Given the description of an element on the screen output the (x, y) to click on. 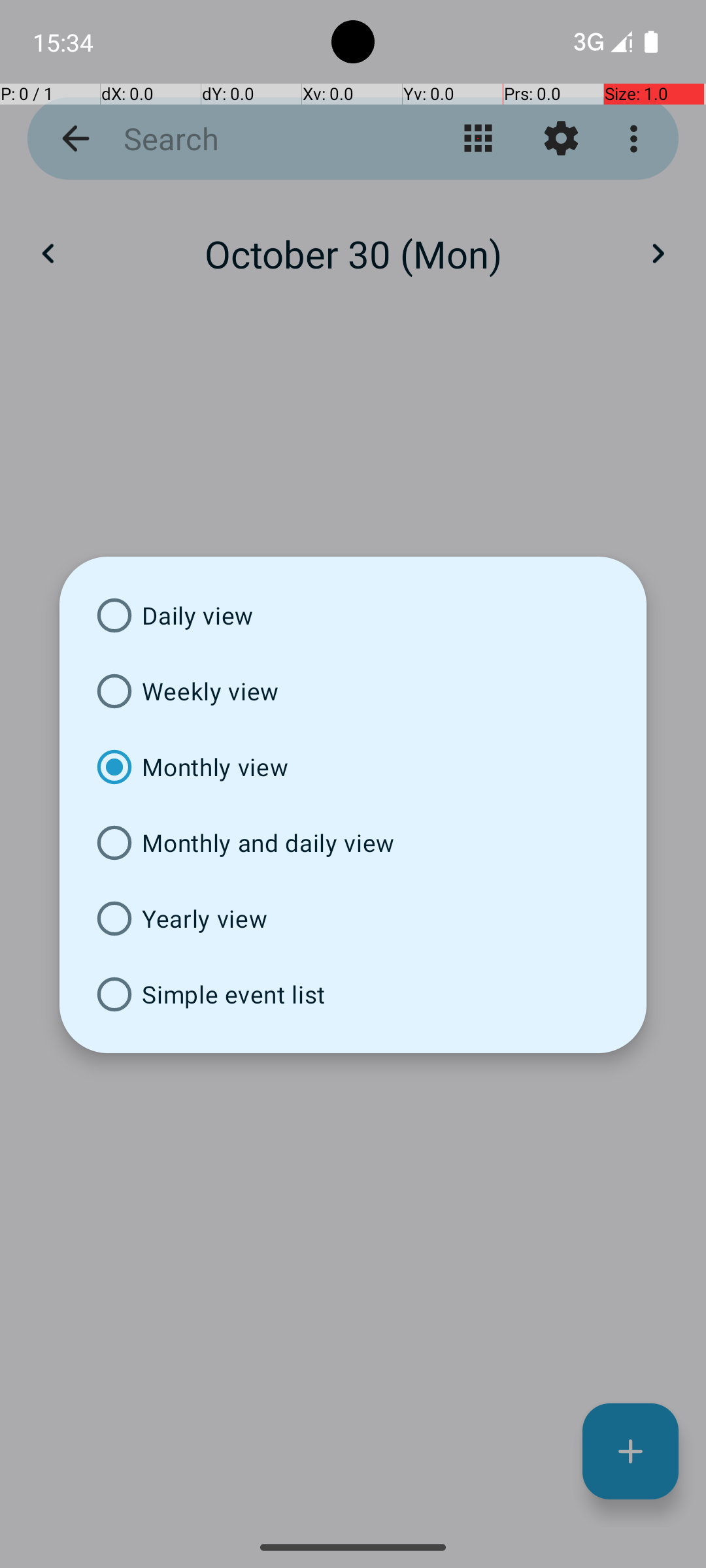
Daily view Element type: android.widget.RadioButton (352, 615)
Weekly view Element type: android.widget.RadioButton (352, 691)
Monthly view Element type: android.widget.RadioButton (352, 766)
Monthly and daily view Element type: android.widget.RadioButton (352, 842)
Yearly view Element type: android.widget.RadioButton (352, 918)
Simple event list Element type: android.widget.RadioButton (352, 994)
